Given the description of an element on the screen output the (x, y) to click on. 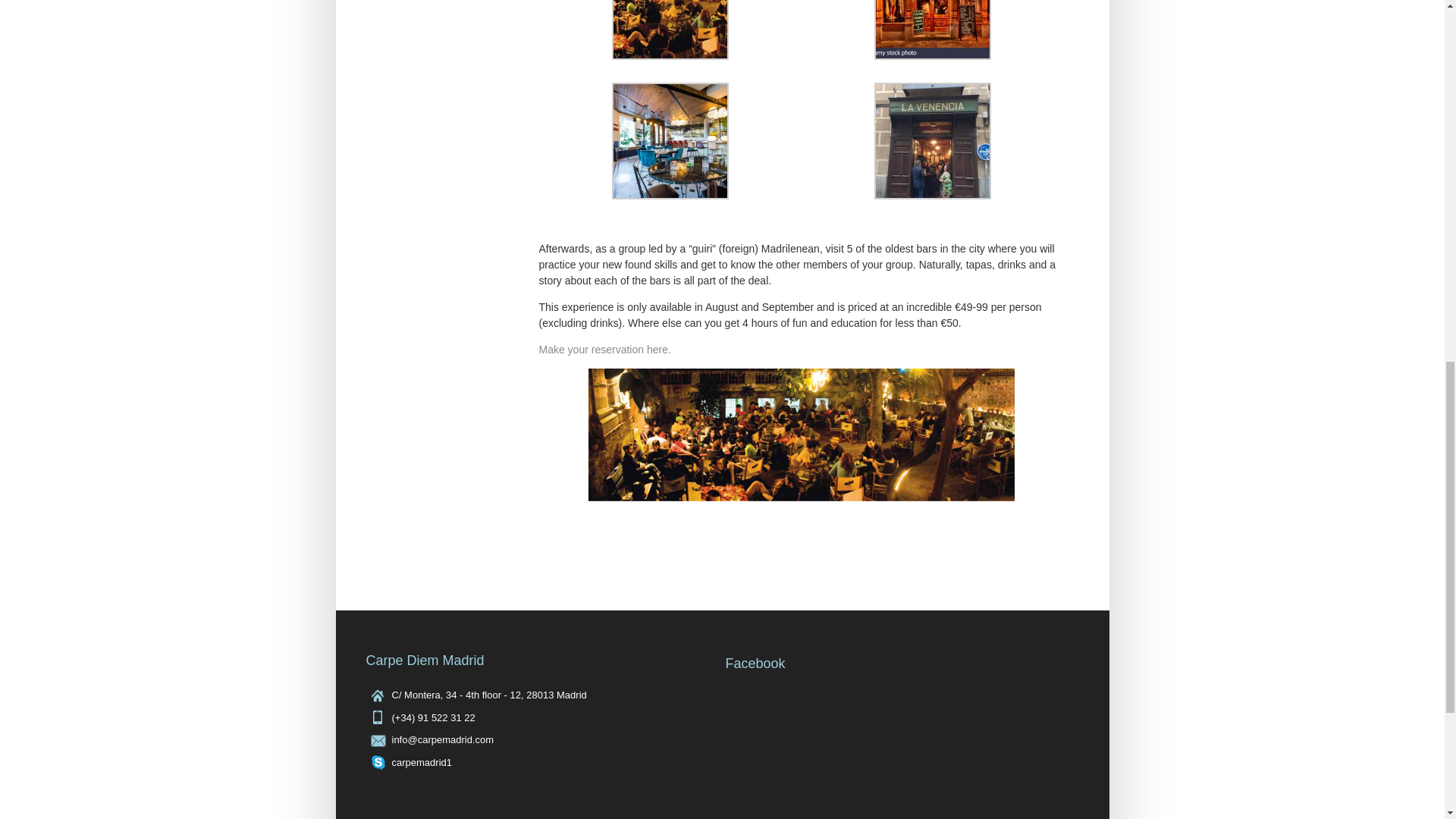
La Venencia (931, 195)
terraza (669, 55)
terraza (669, 29)
terraza (801, 442)
Book your Spanish and historic bar tour experience (603, 349)
only-you-hotel-atocha-madrid-p (669, 195)
bodegas-melibea-bar-and-tapas-madrid-spain-BMG8BM (931, 55)
only-you-hotel-atocha-madrid-p (669, 140)
La Venencia (931, 140)
Make your reservation here. (603, 349)
